Given the description of an element on the screen output the (x, y) to click on. 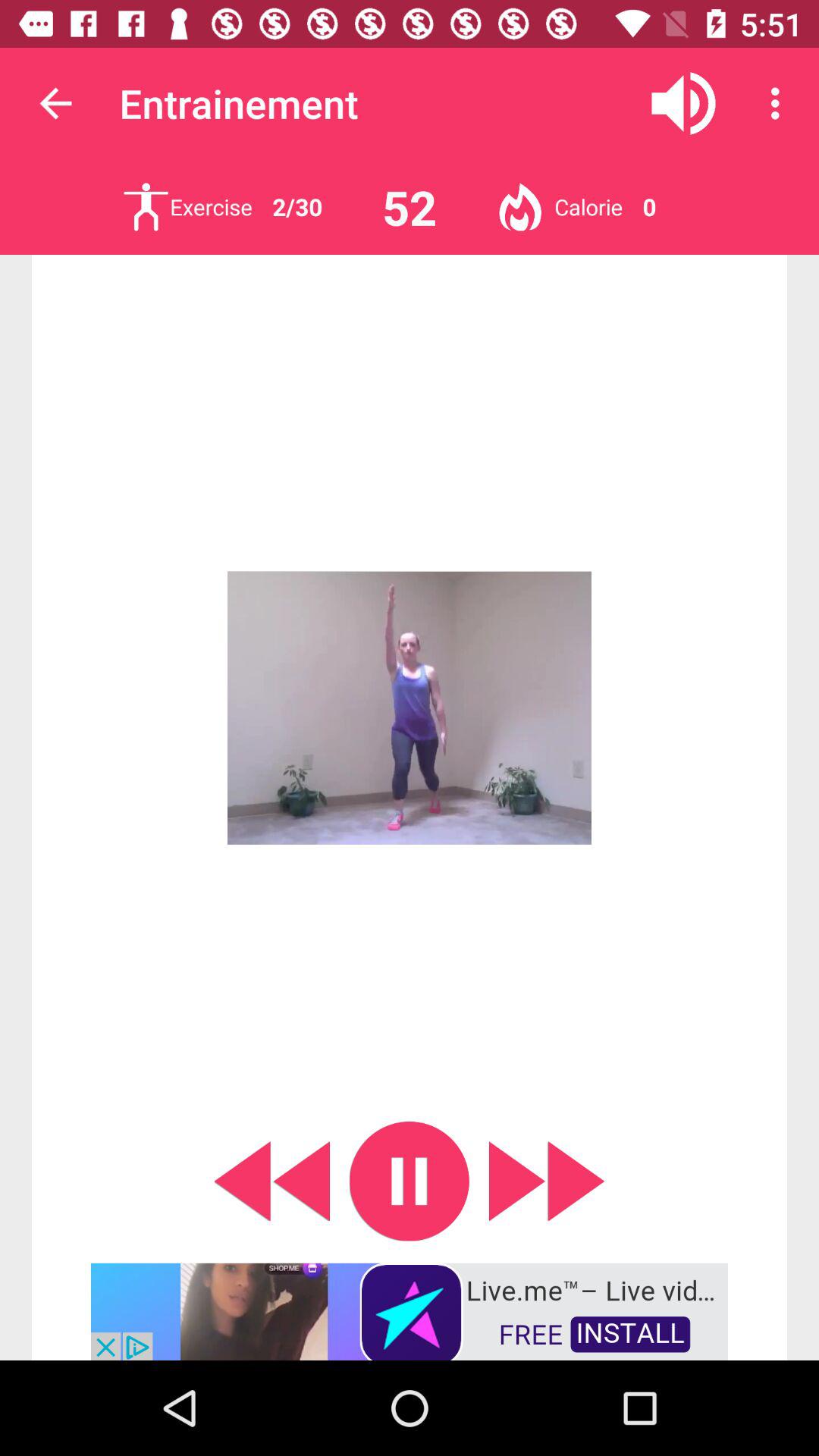
clica em pause (409, 1181)
